Given the description of an element on the screen output the (x, y) to click on. 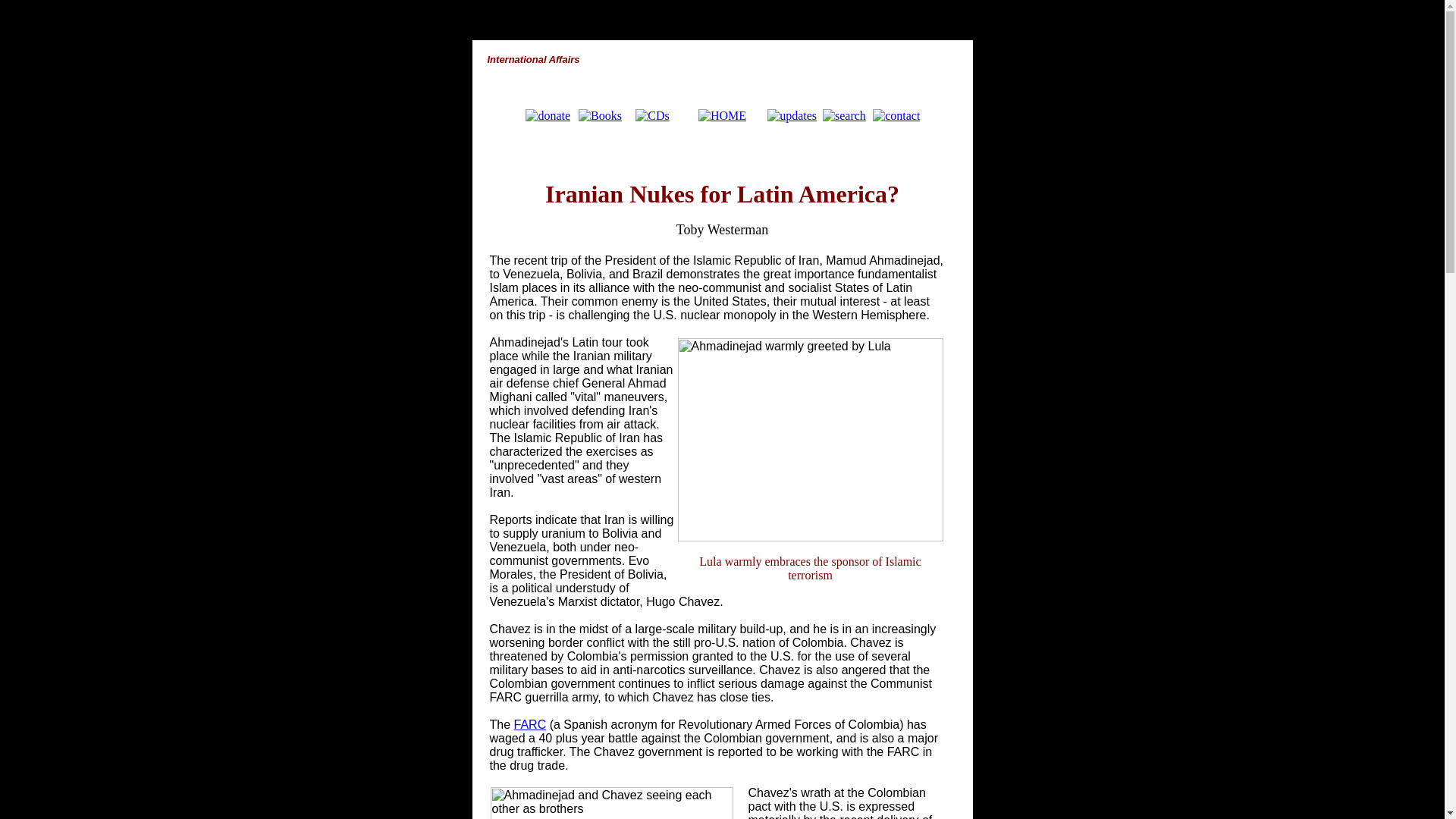
FARC (530, 724)
